Given the description of an element on the screen output the (x, y) to click on. 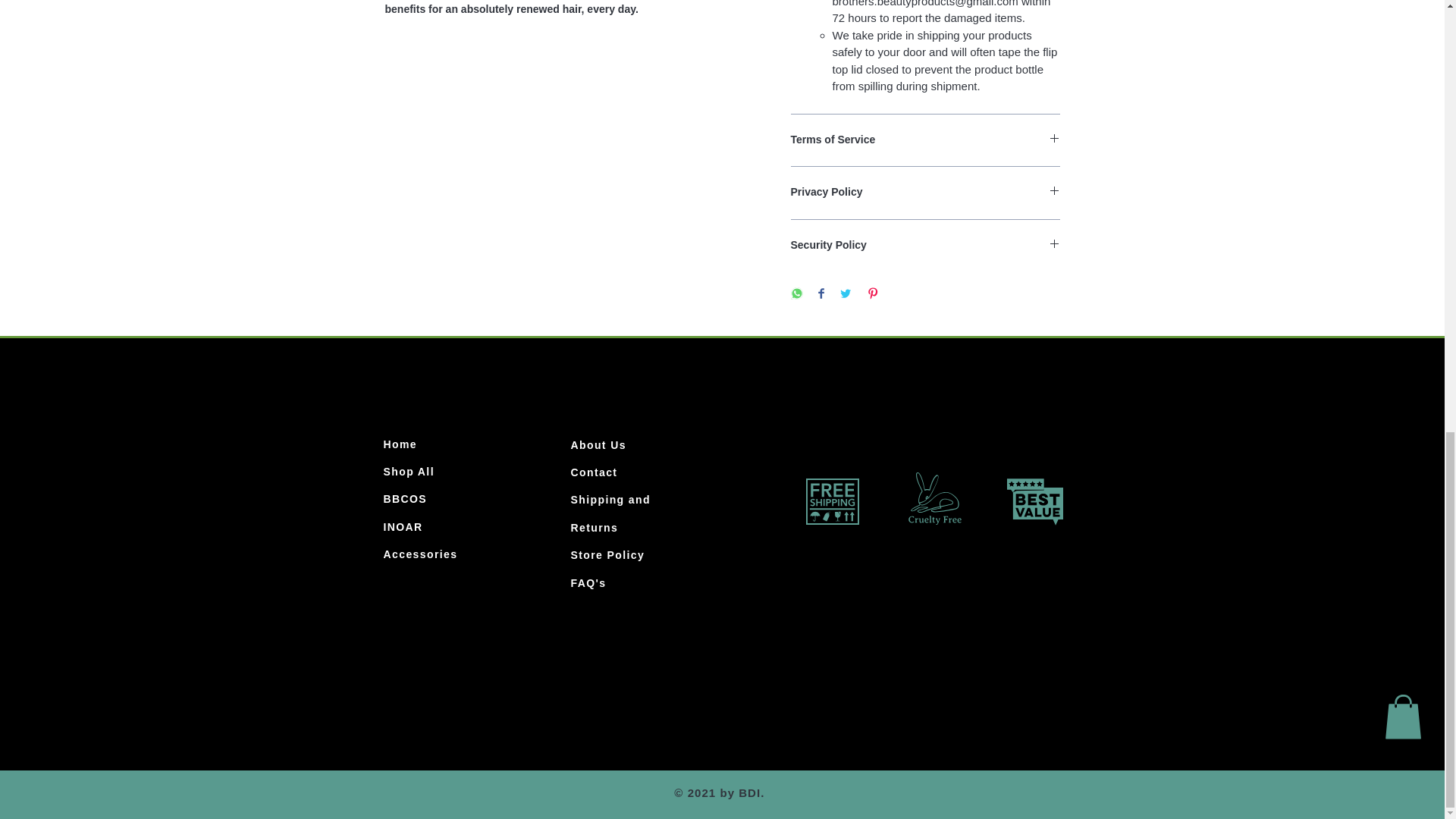
Contact (593, 472)
Accessories (421, 553)
Security Policy (924, 245)
Privacy Policy (924, 192)
Home (400, 444)
Shop All (408, 471)
About Us (598, 444)
Terms of Service (924, 140)
FAQ's (587, 582)
Shipping and Returns (609, 513)
Store Policy (607, 554)
